Given the description of an element on the screen output the (x, y) to click on. 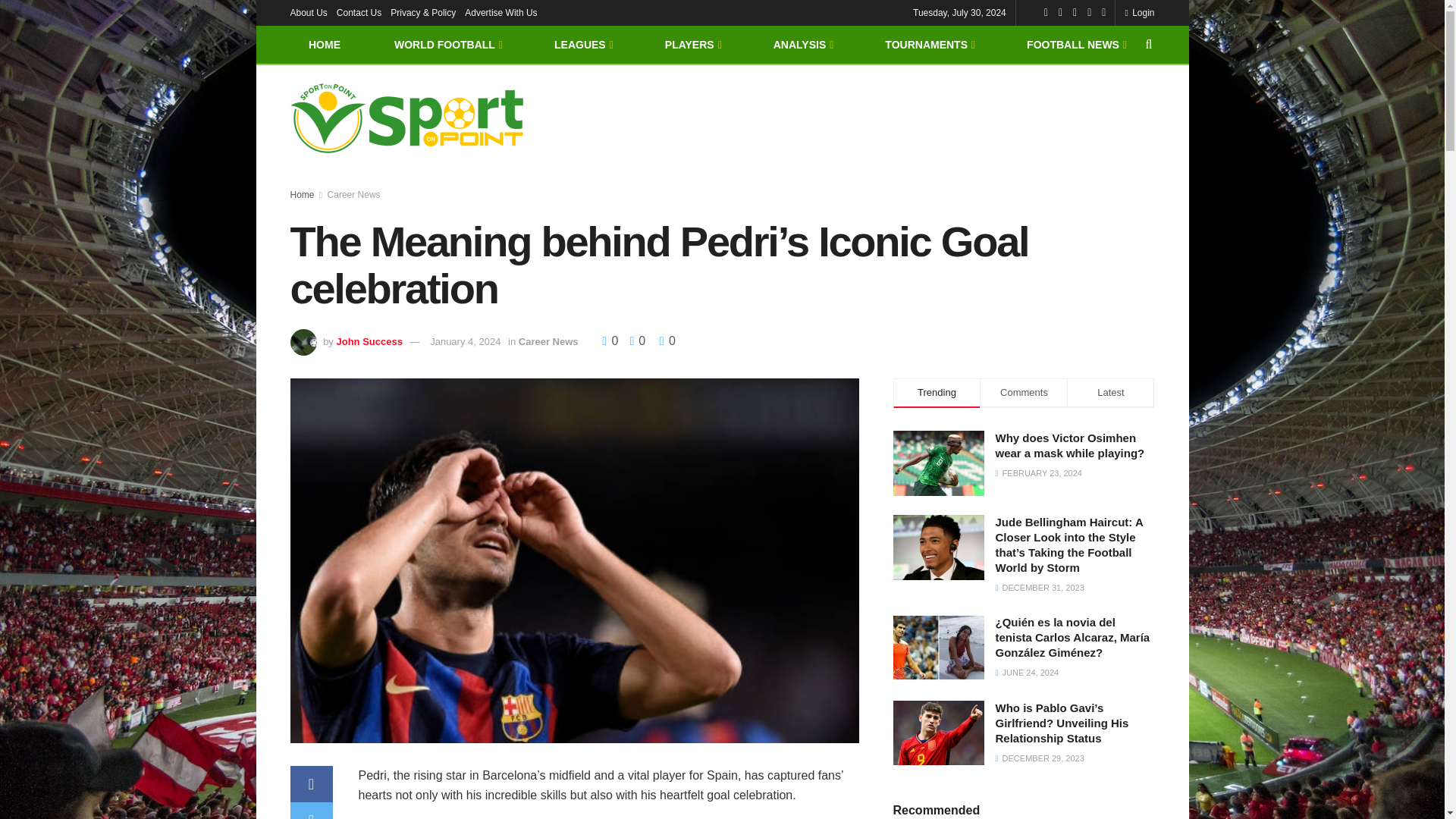
WORLD FOOTBALL (446, 44)
PLAYERS (692, 44)
FOOTBALL NEWS (1075, 44)
ANALYSIS (802, 44)
LEAGUES (582, 44)
Login (1139, 12)
Contact Us (358, 12)
Advertise With Us (500, 12)
TOURNAMENTS (928, 44)
About Us (307, 12)
HOME (323, 44)
